Given the description of an element on the screen output the (x, y) to click on. 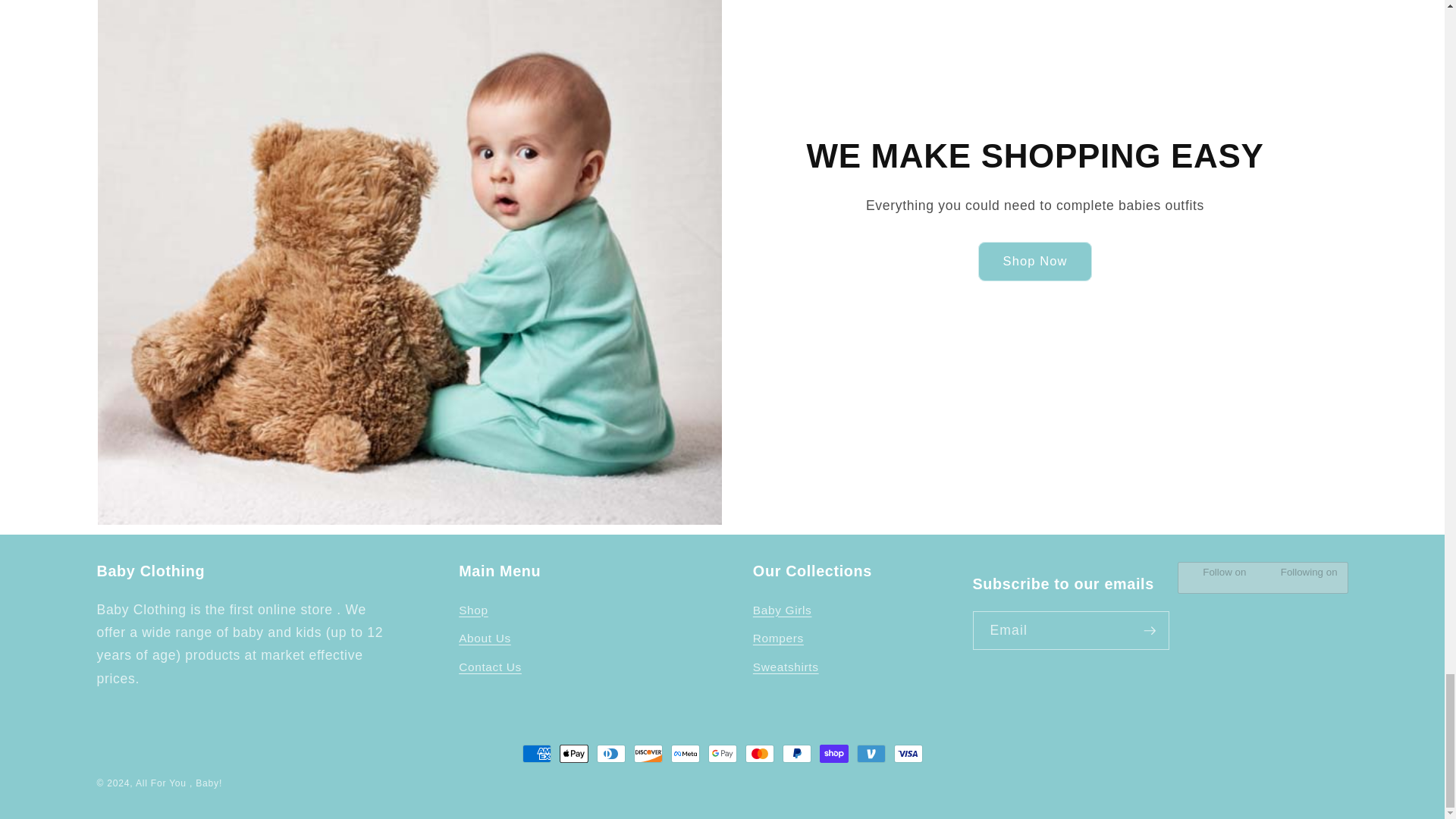
Shop (472, 612)
Shop Now (1035, 261)
